Given the description of an element on the screen output the (x, y) to click on. 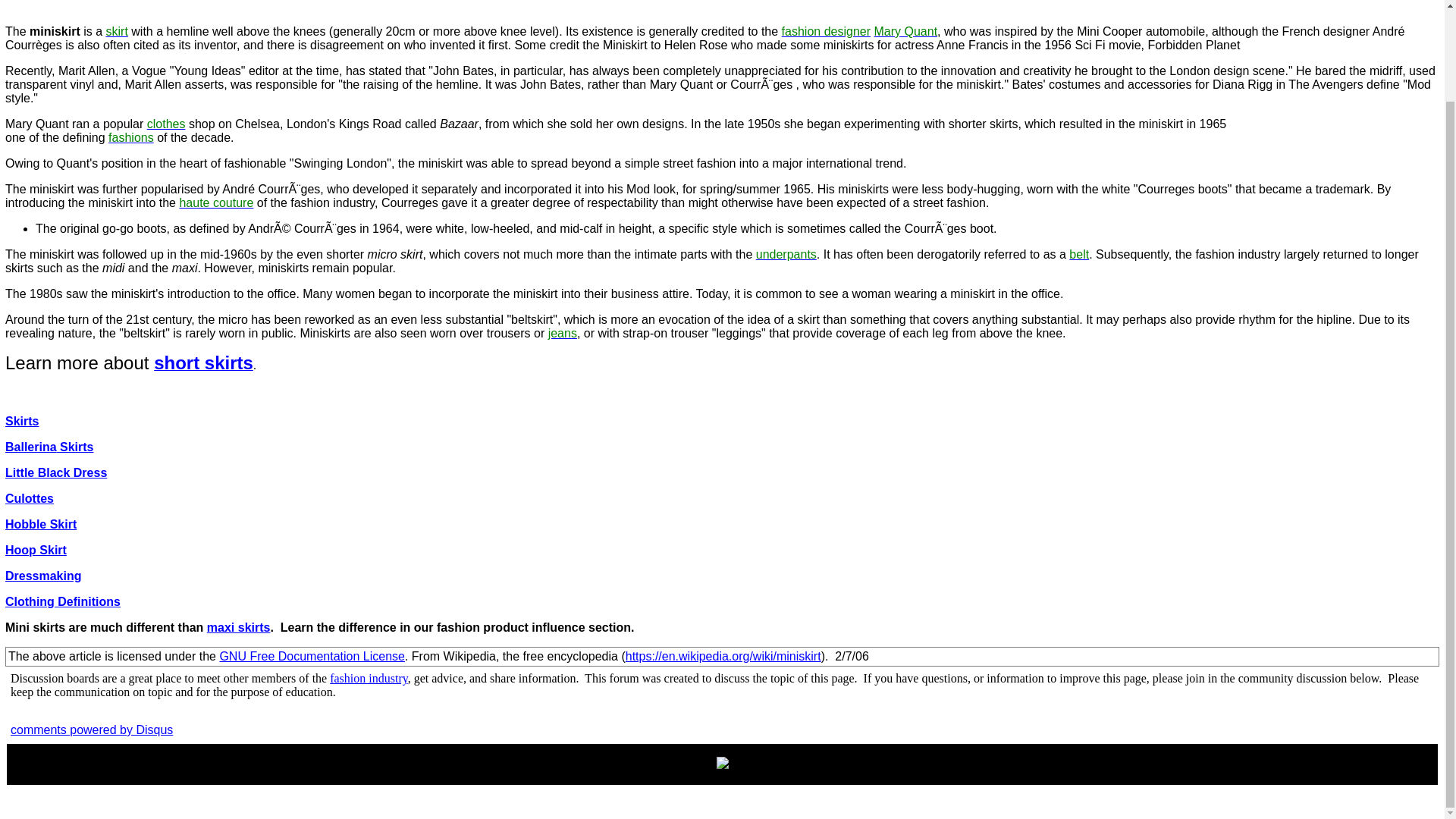
Mary Quant (905, 31)
Jeans (562, 332)
Hobble Skirt (41, 523)
fashions (130, 137)
belt (1078, 254)
Skirts (22, 420)
Hoop Skirt (35, 549)
skirt (117, 31)
Culottes (29, 498)
GNU Free Documentation License (311, 656)
fashion industry (368, 677)
Fashion (130, 137)
fashion designer (825, 31)
Dressmaking (43, 575)
Skirt (117, 31)
